Given the description of an element on the screen output the (x, y) to click on. 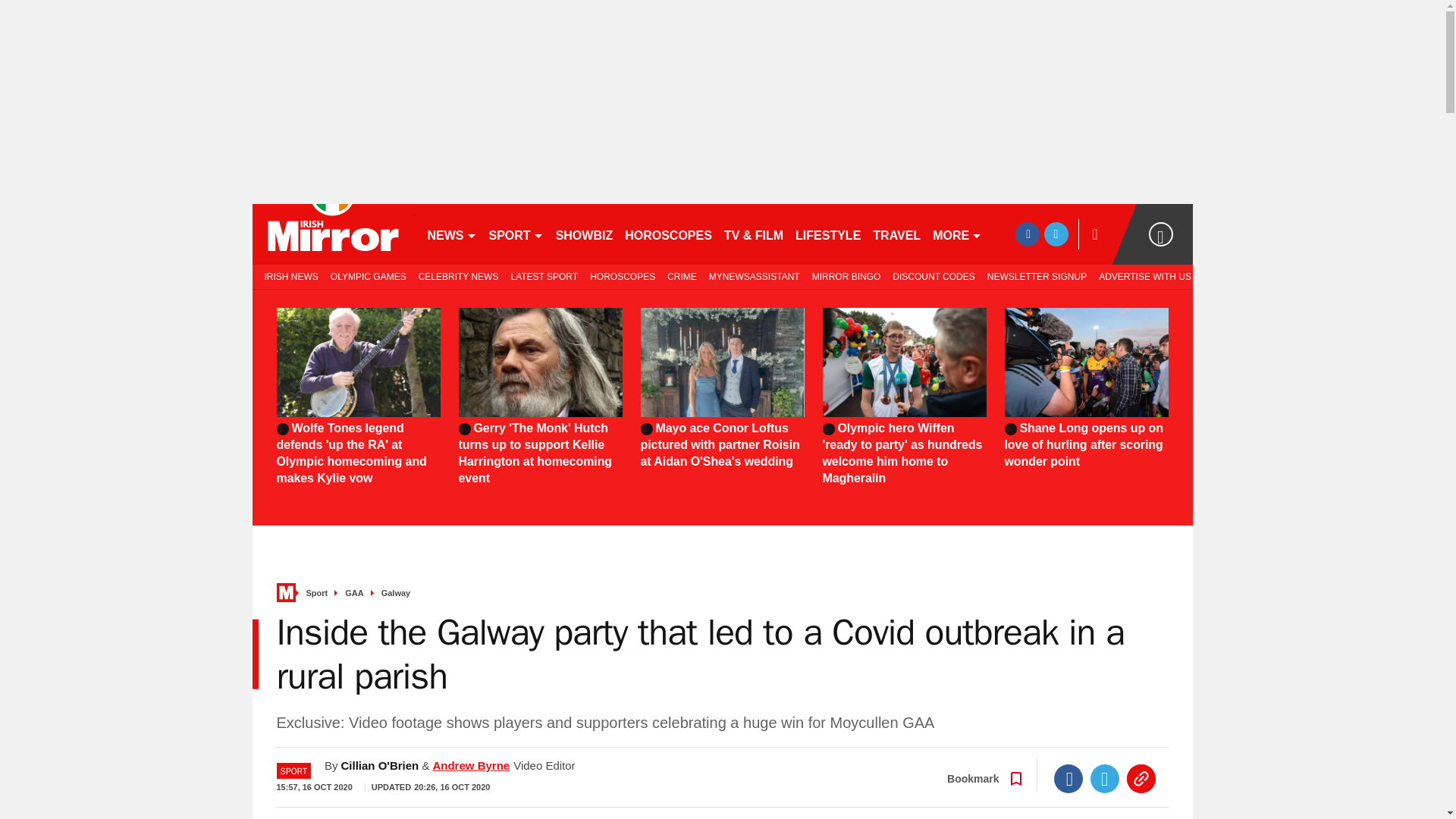
CELEBRITY NEWS (458, 275)
OLYMPIC GAMES (368, 275)
MYNEWSASSISTANT (754, 275)
NEWS (452, 233)
MORE (957, 233)
HOROSCOPES (622, 275)
SHOWBIZ (585, 233)
Facebook (1068, 778)
SPORT (514, 233)
twitter (1055, 233)
